Given the description of an element on the screen output the (x, y) to click on. 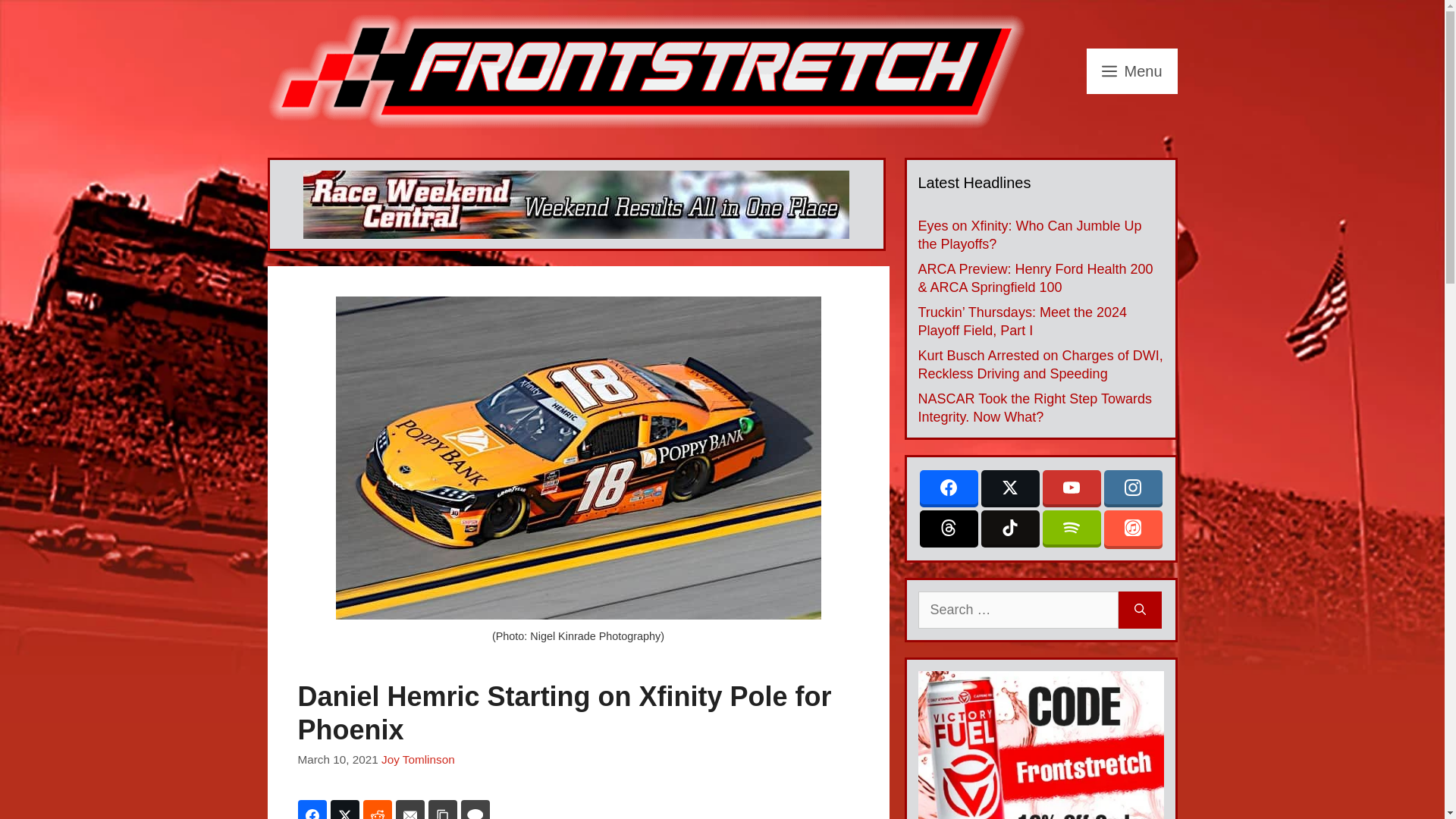
Joy Tomlinson (417, 758)
Share on Reddit (376, 809)
Search for: (1017, 609)
Share on Comments (475, 809)
Share on Copy Link (442, 809)
Share on Email (410, 809)
Menu (1131, 71)
Share on Twitter (344, 809)
Share on Facebook (311, 809)
